Given the description of an element on the screen output the (x, y) to click on. 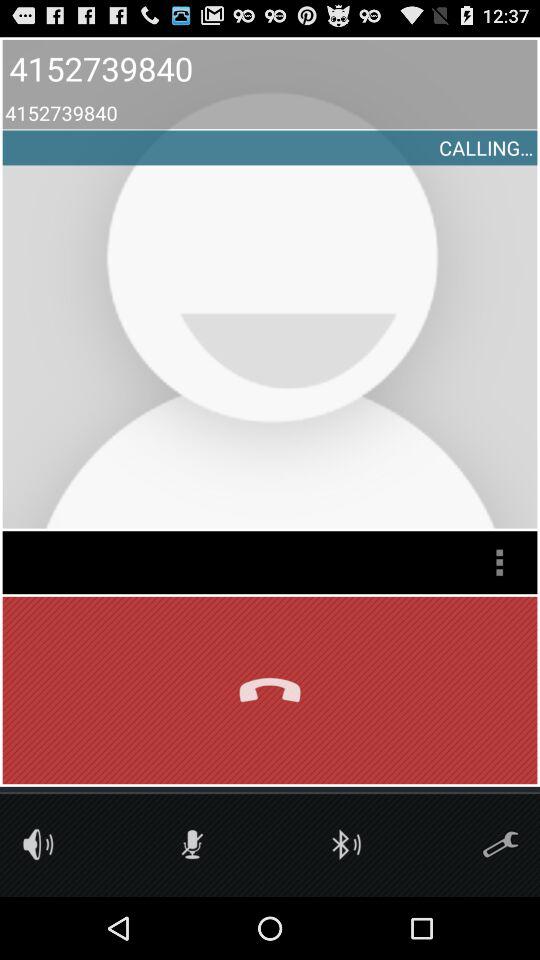
turn on the icon on the right (499, 562)
